Given the description of an element on the screen output the (x, y) to click on. 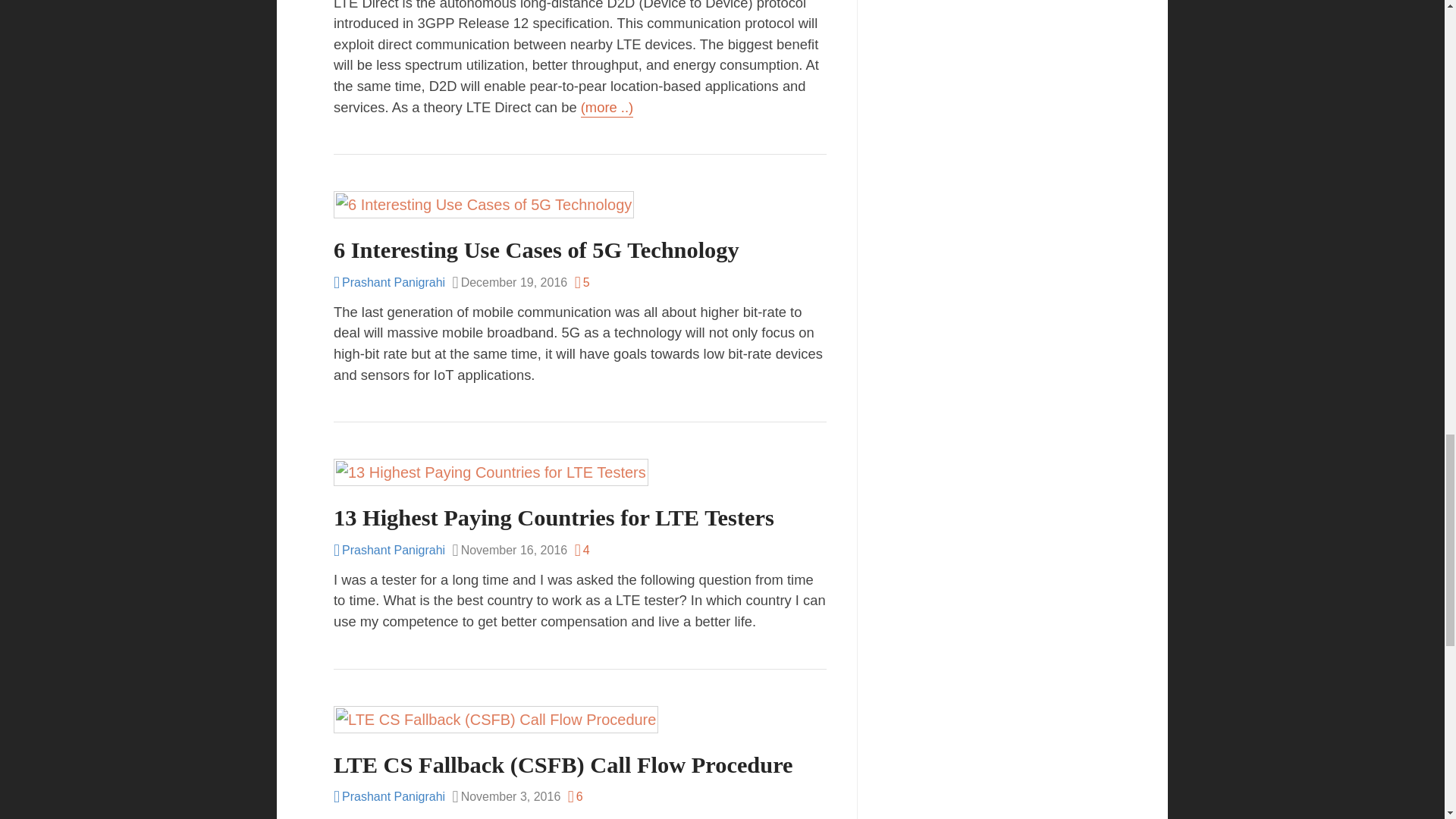
Prashant Panigrahi (389, 549)
Wednesday, November 16, 2016, 3:04 pm (509, 550)
Posts by Prashant Panigrahi (389, 796)
Prashant Panigrahi (389, 796)
13 Highest Paying Countries for LTE Testers (553, 517)
Posts by Prashant Panigrahi (389, 549)
Posts by Prashant Panigrahi (389, 282)
Thursday, November 3, 2016, 4:02 pm (506, 796)
Monday, December 19, 2016, 11:38 am (509, 282)
Prashant Panigrahi (389, 282)
